Given the description of an element on the screen output the (x, y) to click on. 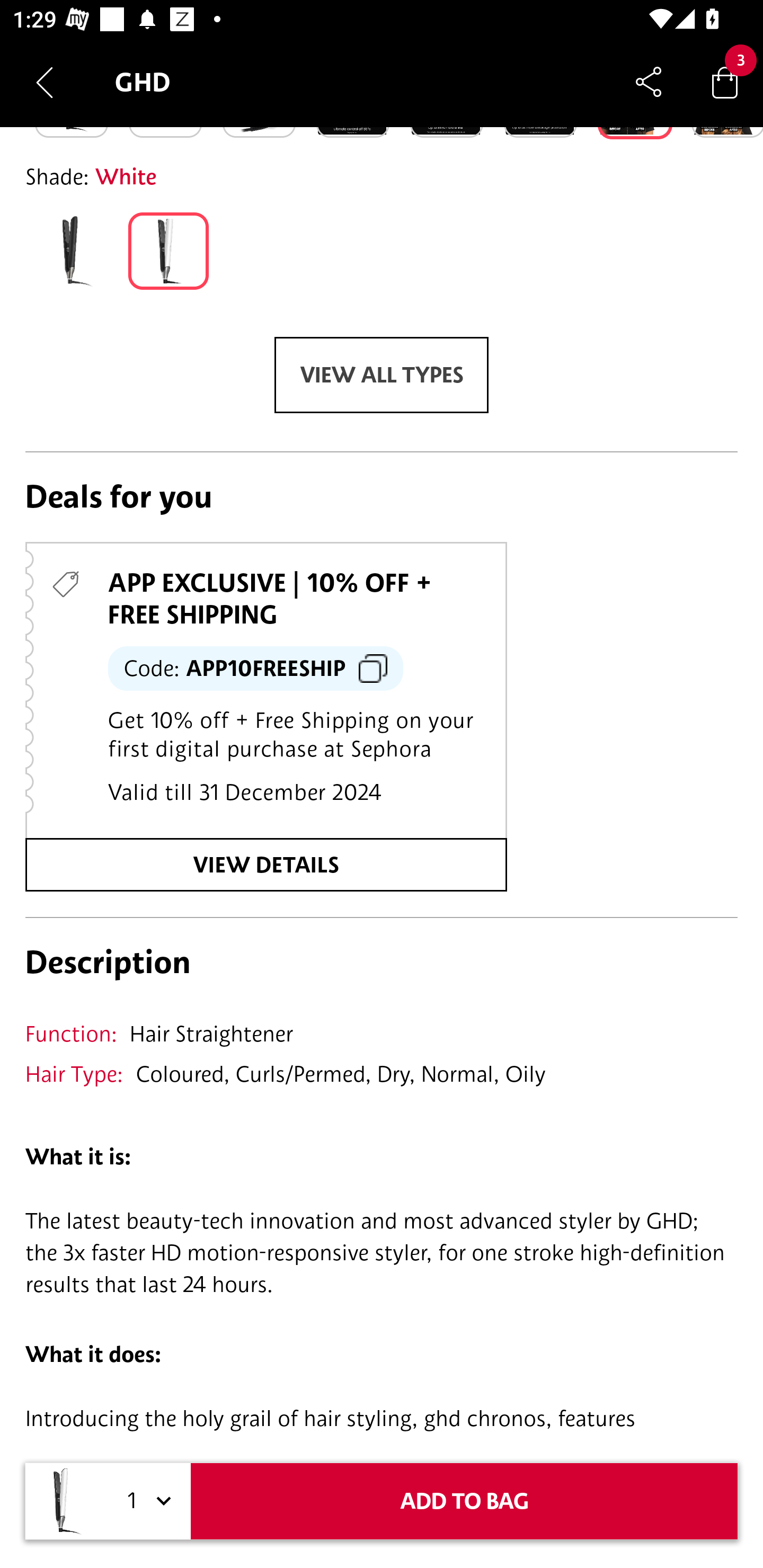
Navigate up (44, 82)
Share (648, 81)
Bag (724, 81)
VIEW ALL TYPES (381, 375)
VIEW DETAILS (266, 864)
1 (145, 1500)
ADD TO BAG (463, 1500)
